Given the description of an element on the screen output the (x, y) to click on. 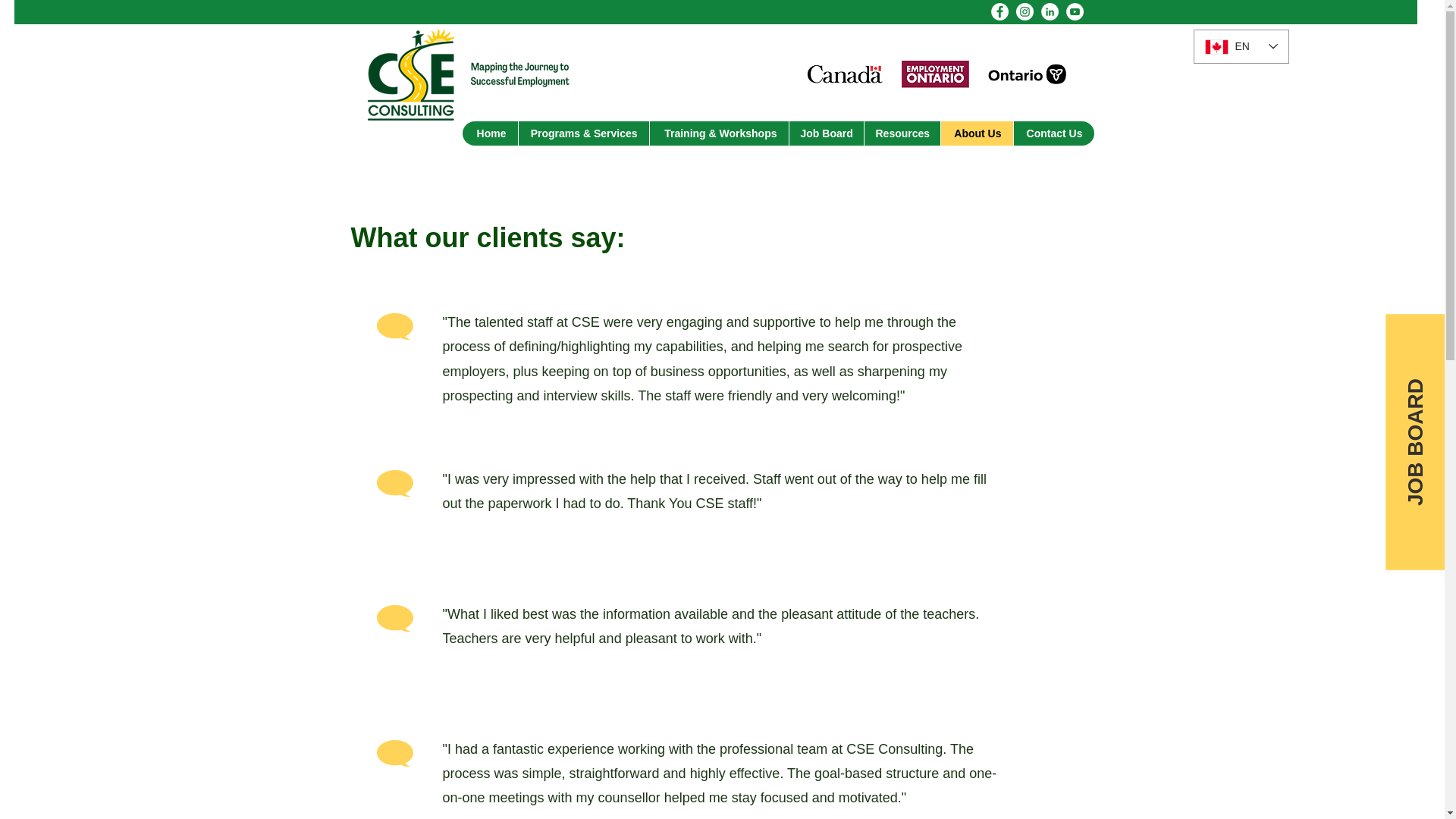
About Us (976, 133)
Contact Us (1053, 133)
Job Board (826, 133)
Resources (901, 133)
Home (490, 133)
